Given the description of an element on the screen output the (x, y) to click on. 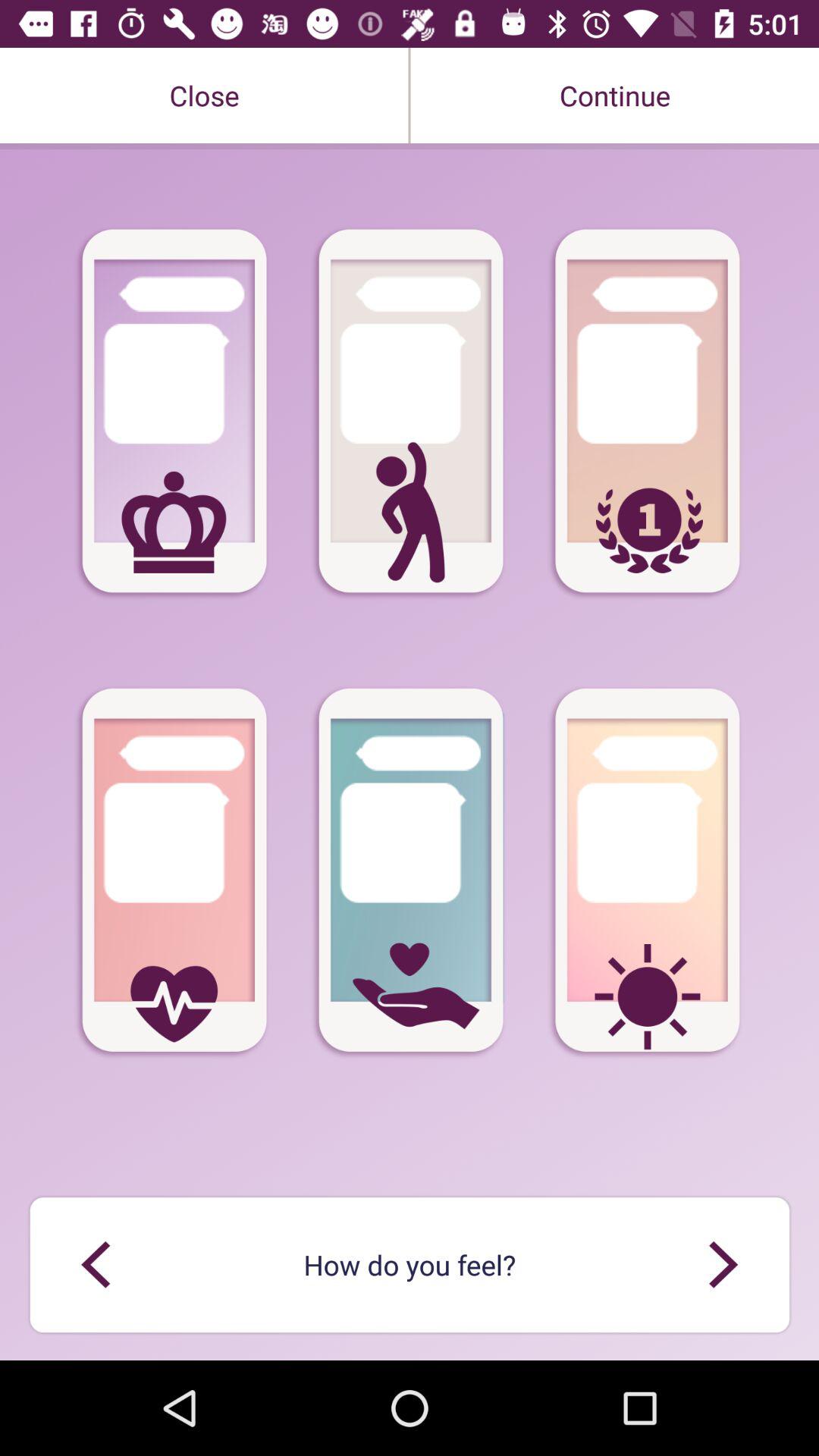
go previous page (95, 1264)
